Given the description of an element on the screen output the (x, y) to click on. 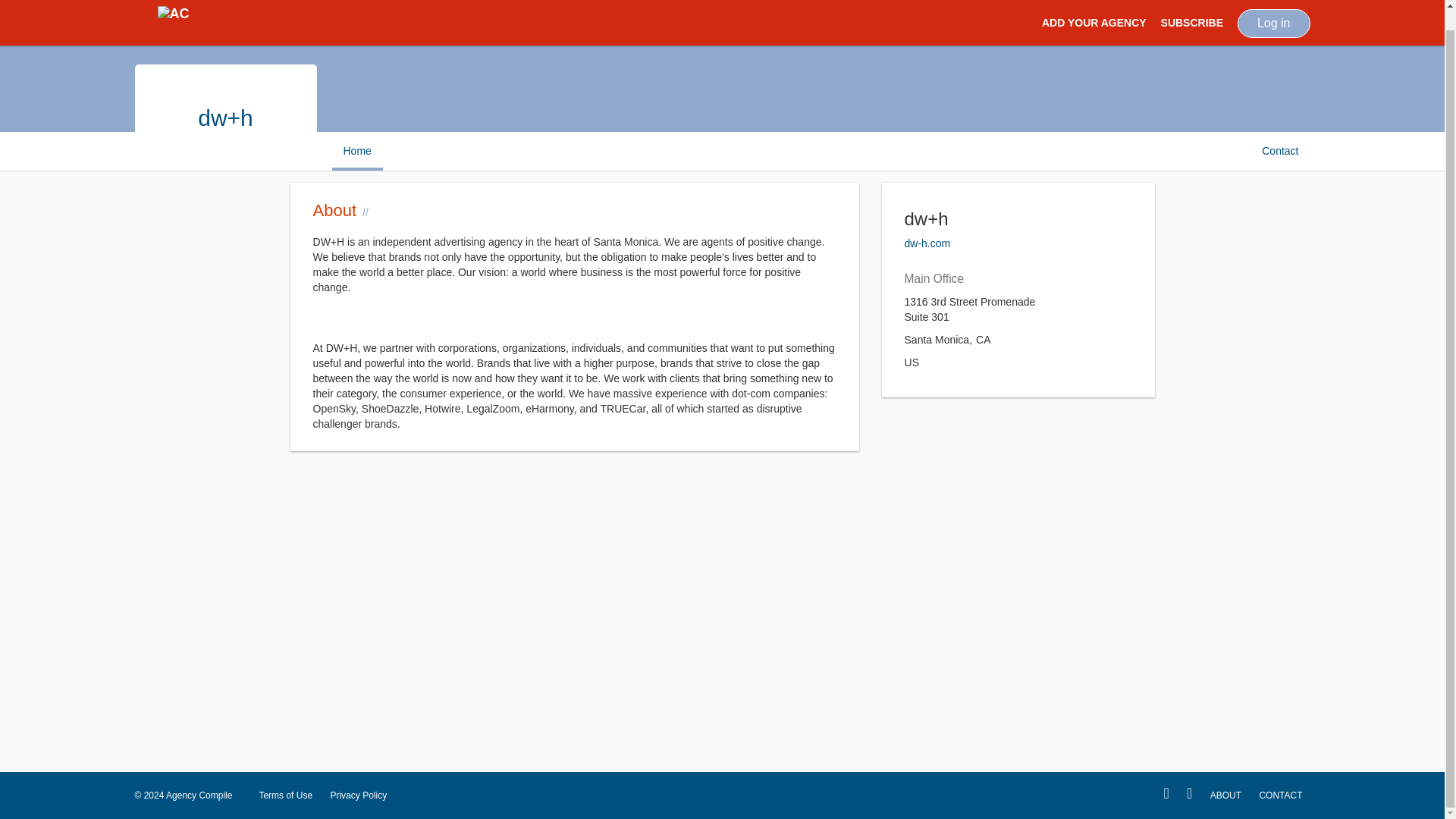
ABOUT (1225, 795)
Privacy Policy (357, 795)
ADD YOUR AGENCY (1094, 12)
Log in (1273, 9)
Contact (1279, 150)
CONTACT (1279, 795)
SUBSCRIBE (1191, 12)
Terms of Use (285, 795)
dw-h.com (927, 243)
Home (356, 150)
